Given the description of an element on the screen output the (x, y) to click on. 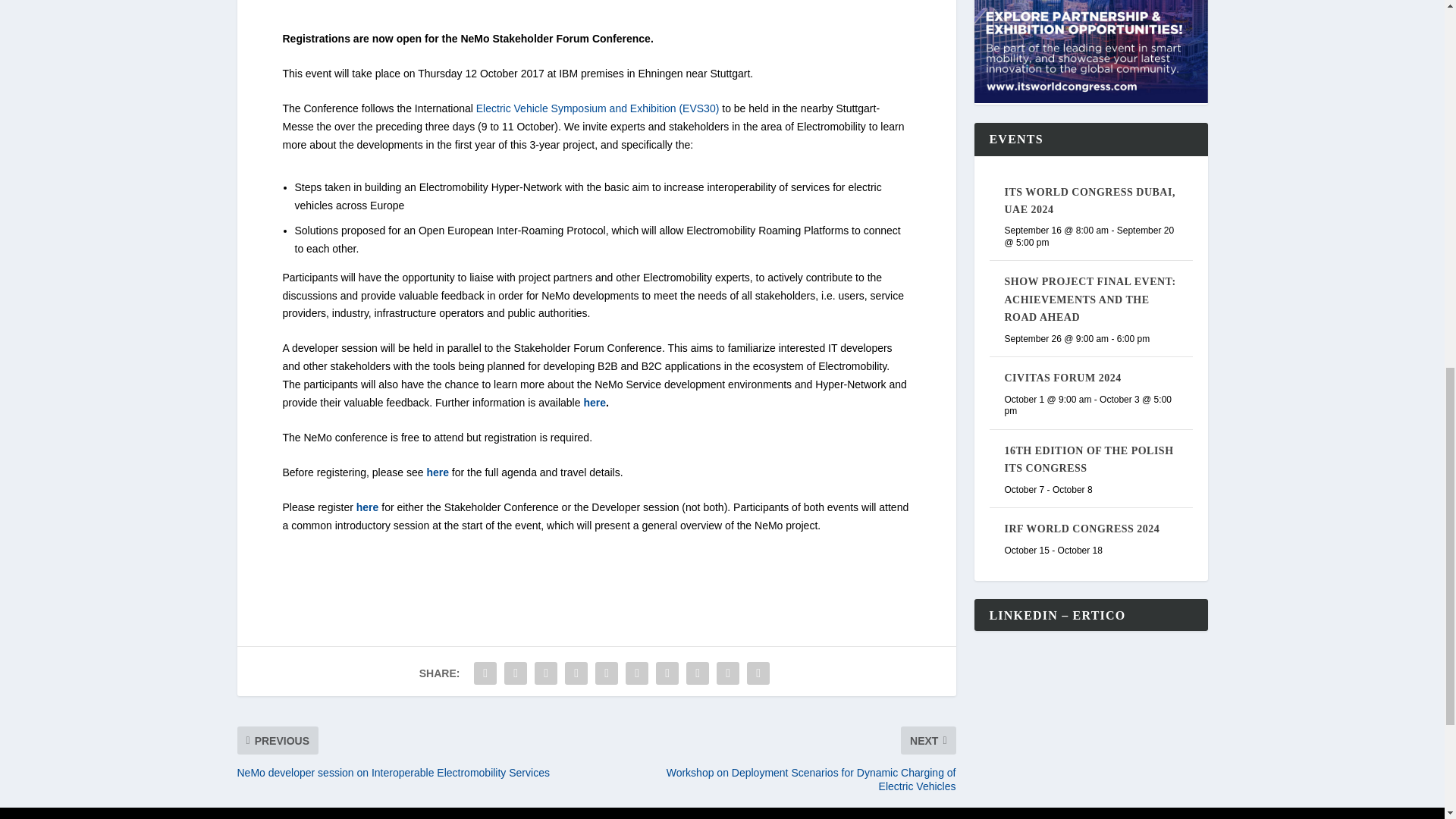
Share "NeMo Stakeholder Forum Conference" via LinkedIn (636, 673)
Share "NeMo Stakeholder Forum Conference" via Print (757, 673)
Share "NeMo Stakeholder Forum Conference" via Pinterest (606, 673)
Share "NeMo Stakeholder Forum Conference" via Facebook (485, 673)
Share "NeMo Stakeholder Forum Conference" via Twitter (515, 673)
ITS WORLD CONGRESS DUBAI, UAE 2024 (1089, 200)
here (367, 507)
Share "NeMo Stakeholder Forum Conference" via Tumblr (575, 673)
Share "NeMo Stakeholder Forum Conference" via Stumbleupon (697, 673)
Share "NeMo Stakeholder Forum Conference" via Email (727, 673)
here (594, 402)
Share "NeMo Stakeholder Forum Conference" via Buffer (667, 673)
here (437, 472)
